Given the description of an element on the screen output the (x, y) to click on. 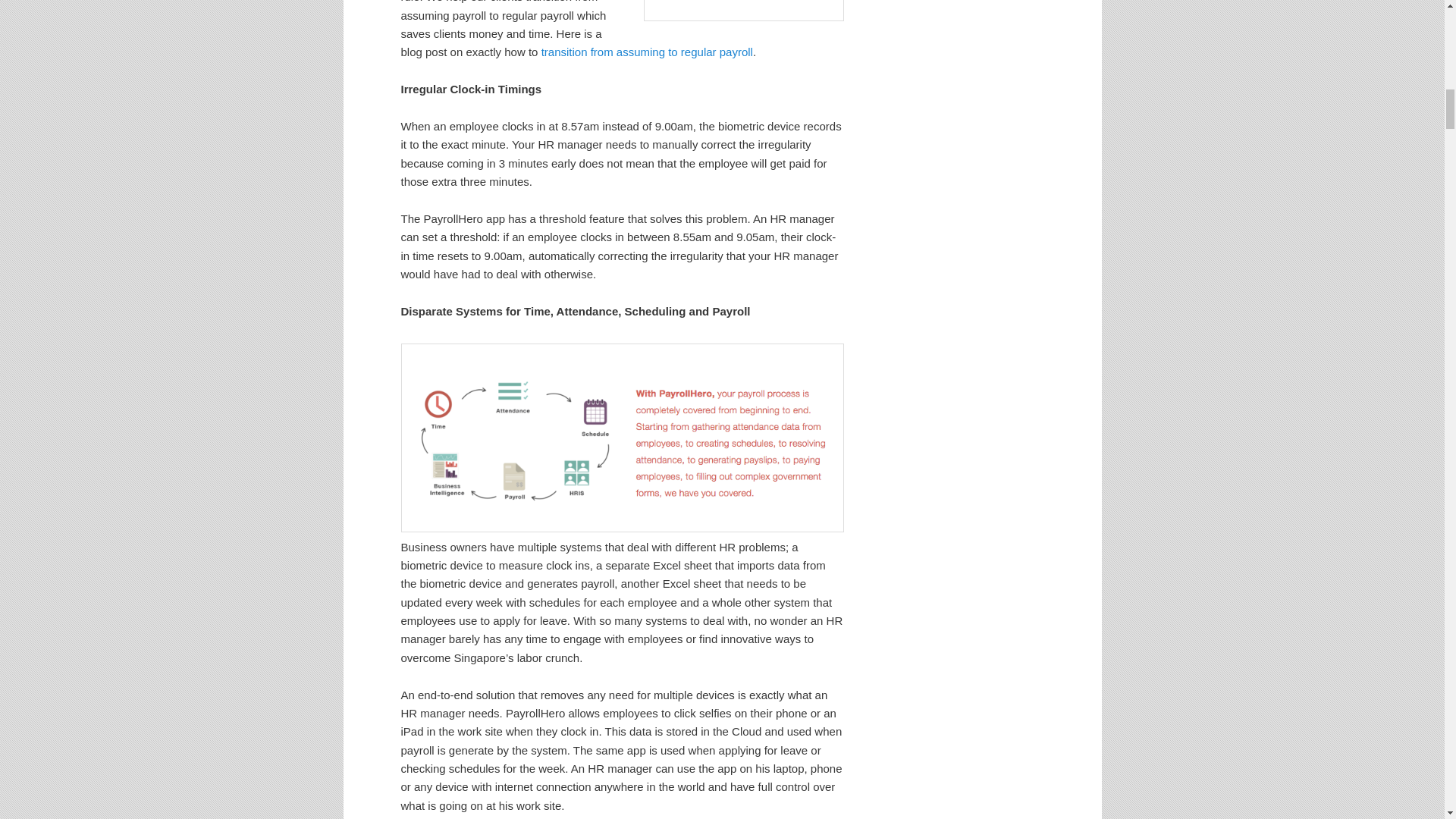
transition from assuming to regular payroll (646, 51)
